Given the description of an element on the screen output the (x, y) to click on. 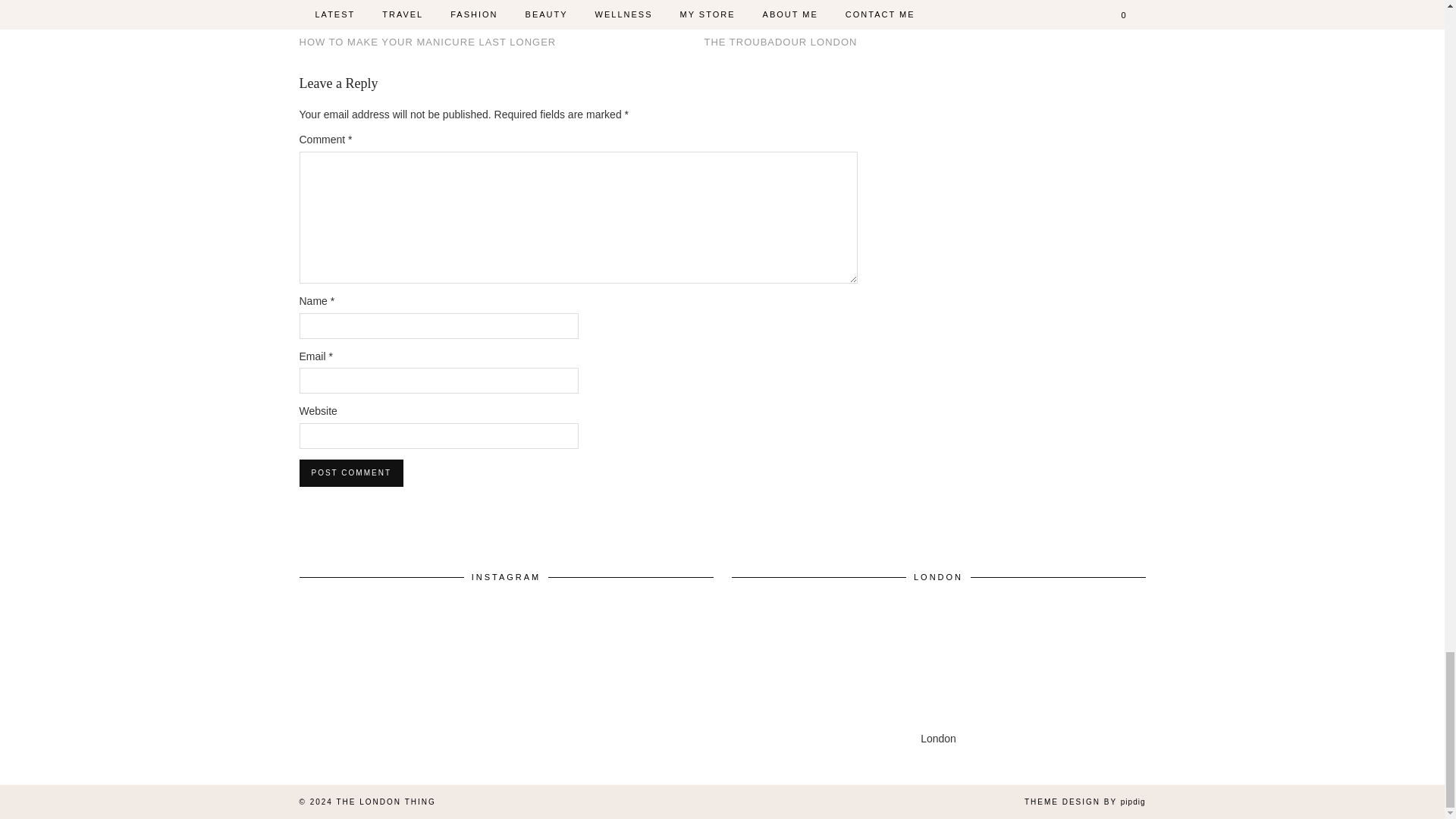
Post Comment (350, 472)
